Given the description of an element on the screen output the (x, y) to click on. 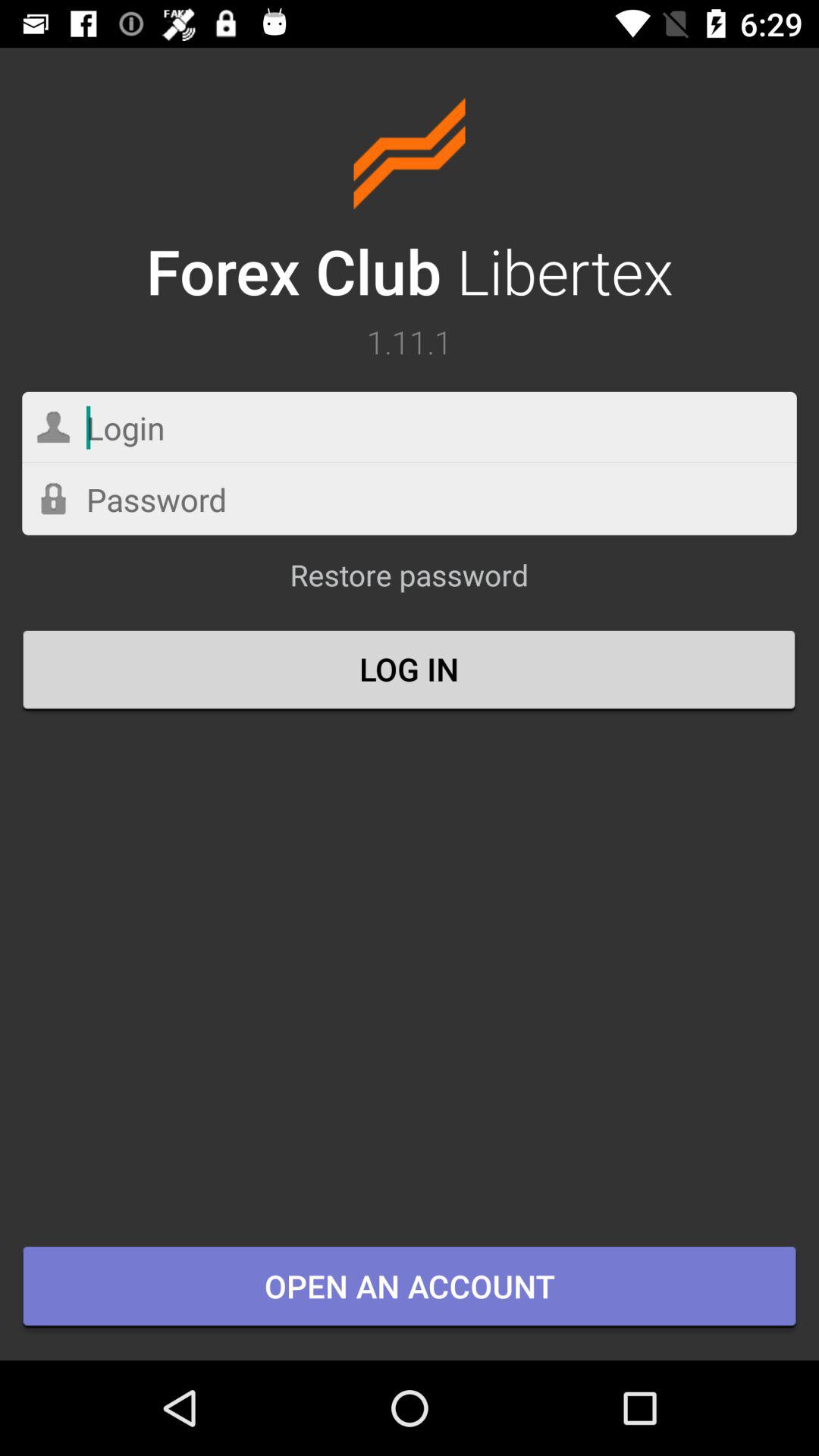
launch the log in item (409, 671)
